Given the description of an element on the screen output the (x, y) to click on. 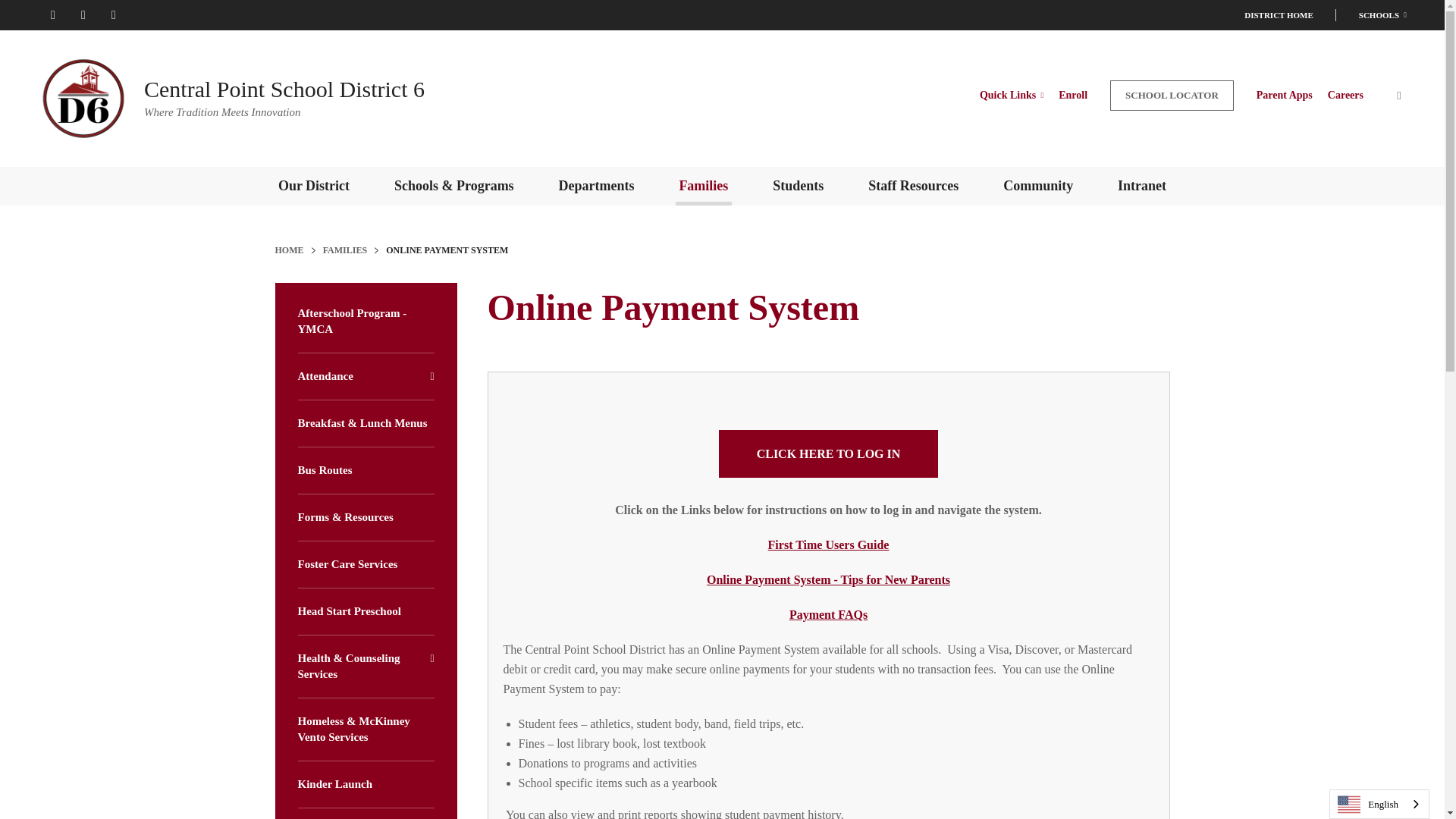
Online Payment System (829, 453)
